Given the description of an element on the screen output the (x, y) to click on. 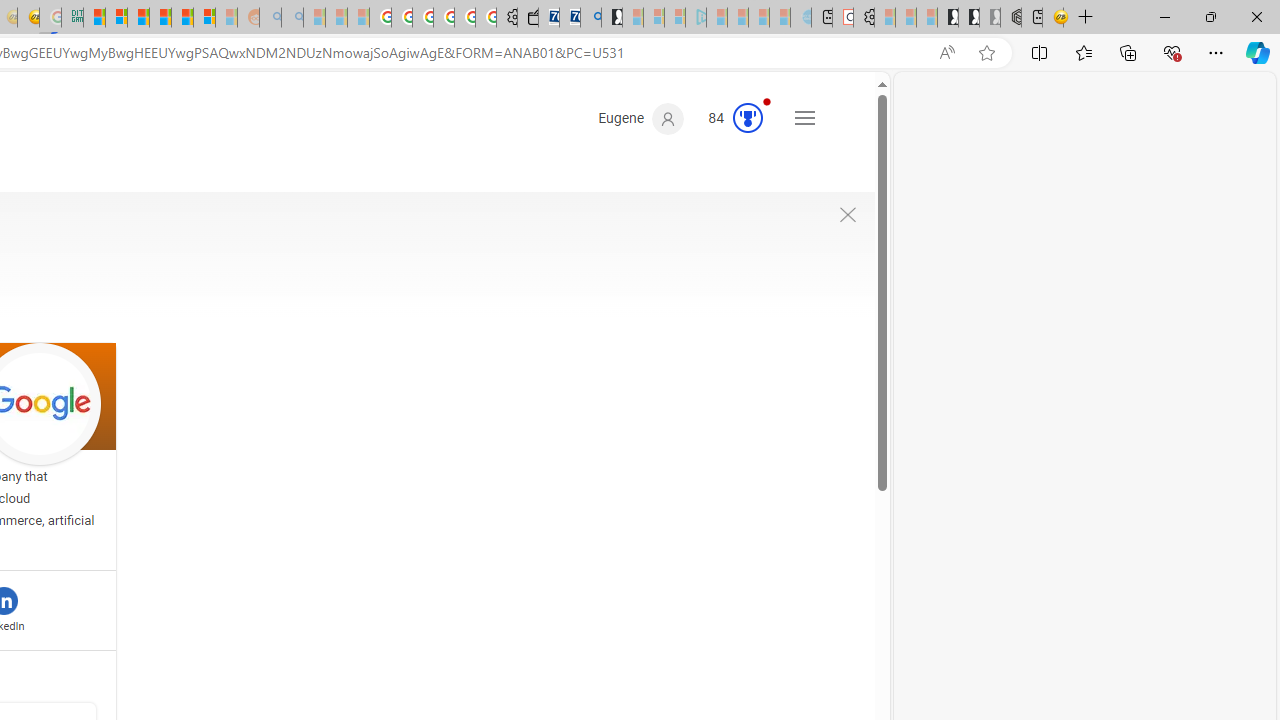
Bing Real Estate - Home sales and rental listings (591, 17)
AutomationID: serp_medal_svg (748, 117)
AutomationID: rh_meter (748, 117)
Wallet (527, 17)
